Given the description of an element on the screen output the (x, y) to click on. 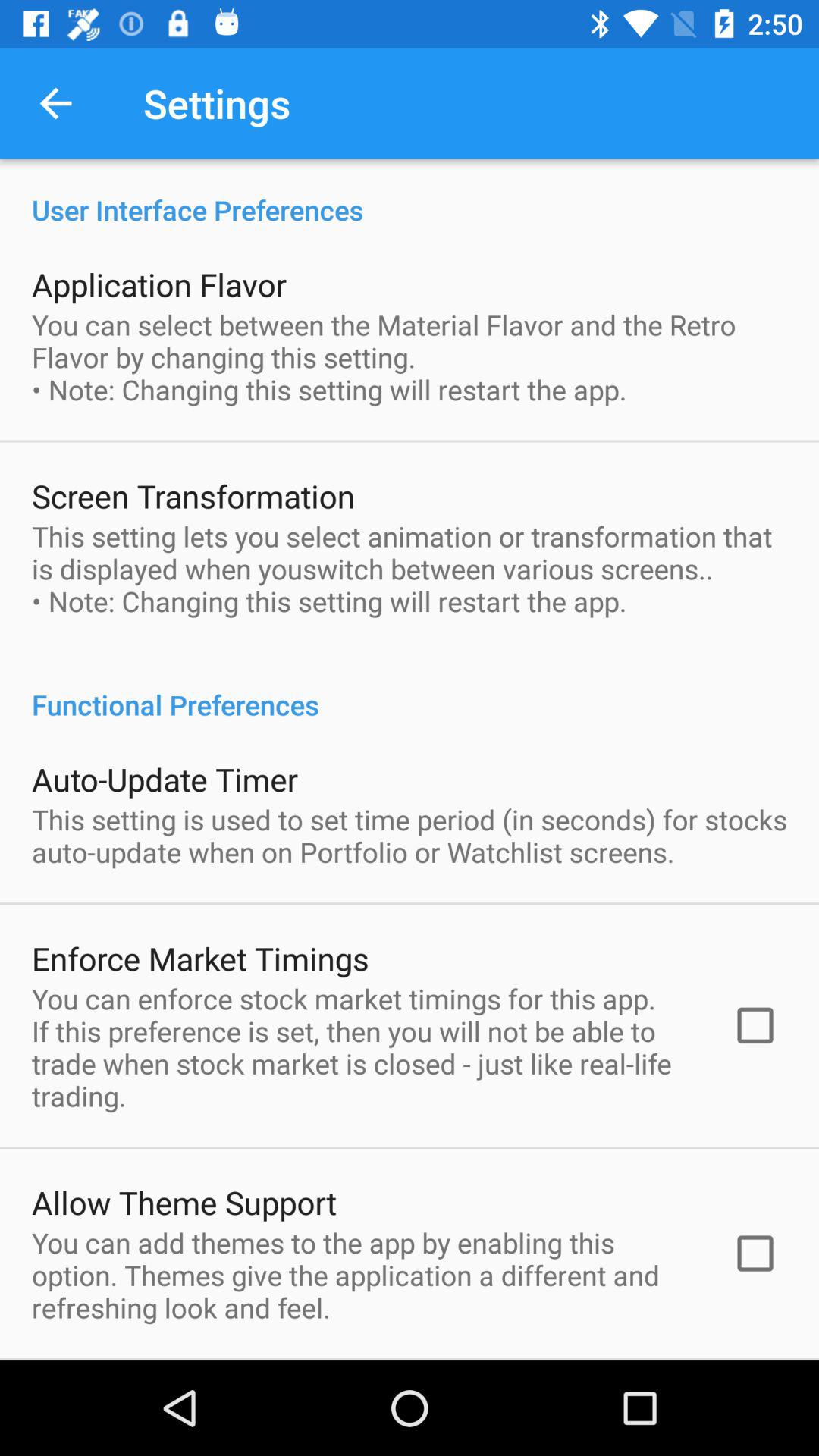
turn off the application flavor icon (158, 283)
